Given the description of an element on the screen output the (x, y) to click on. 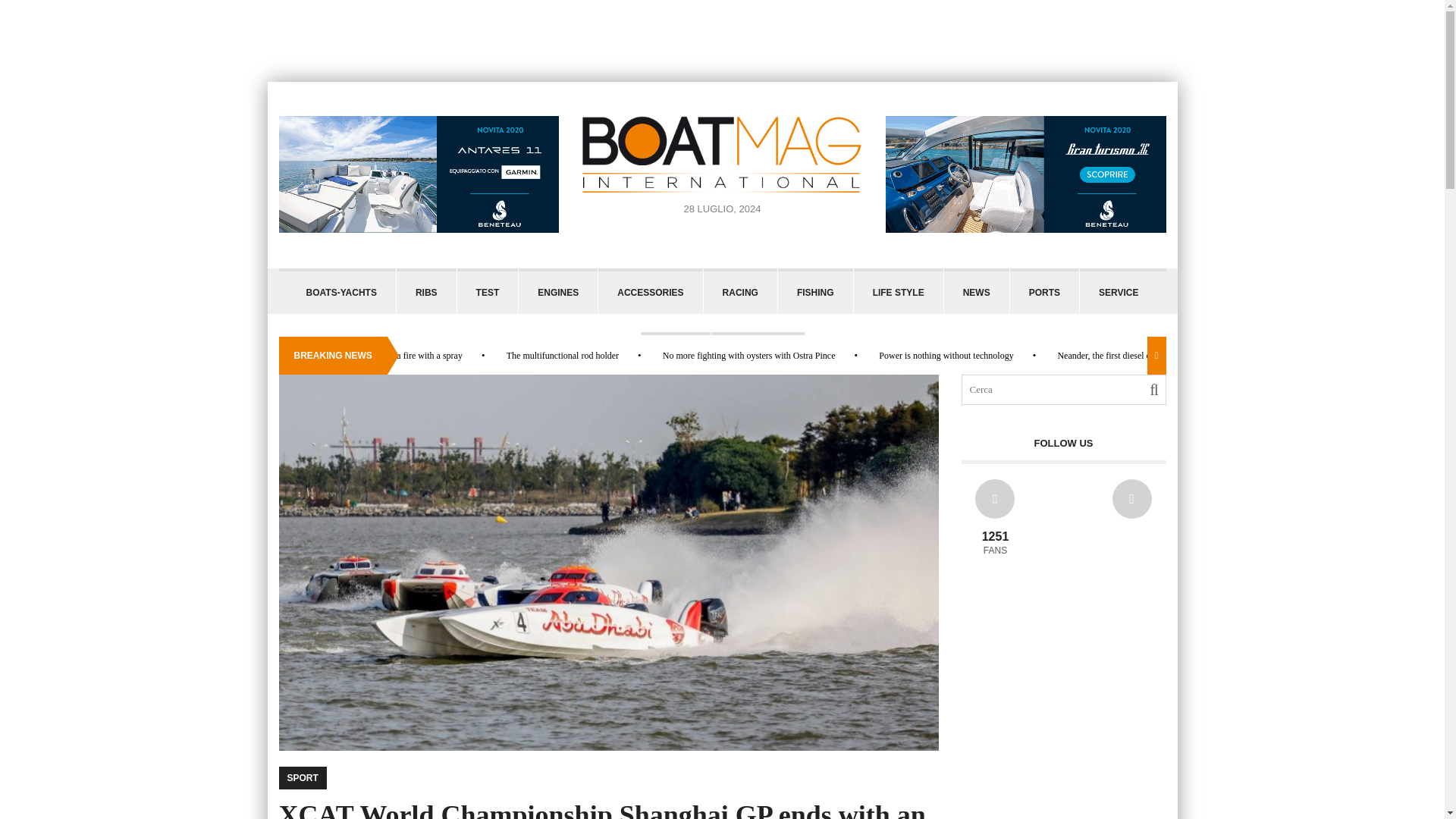
LIFE STYLE (898, 290)
View all posts filed under Test (487, 290)
View all posts filed under Ribs (426, 290)
ENGINES (557, 290)
BOATS-YACHTS (341, 290)
View all posts filed under Life Style (898, 290)
Power is nothing without technology (946, 355)
SPORT (675, 354)
View all posts filed under Fishing (815, 290)
PORTS (1044, 290)
The multifunctional rod holder (562, 355)
View all posts filed under Racing (740, 290)
RACING (740, 290)
RIBS (426, 290)
TEST (487, 290)
